Given the description of an element on the screen output the (x, y) to click on. 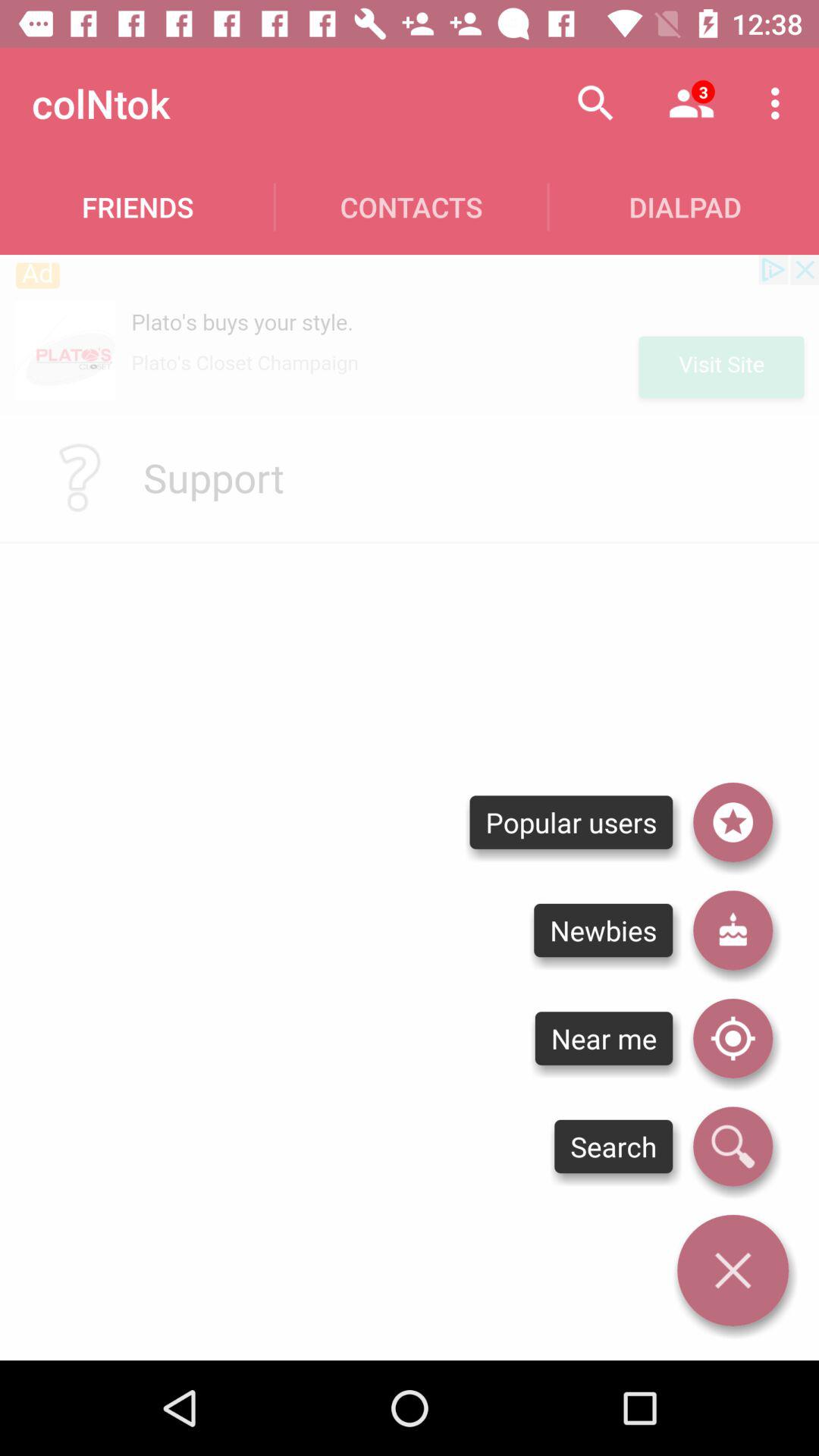
newbie icon (733, 930)
